Given the description of an element on the screen output the (x, y) to click on. 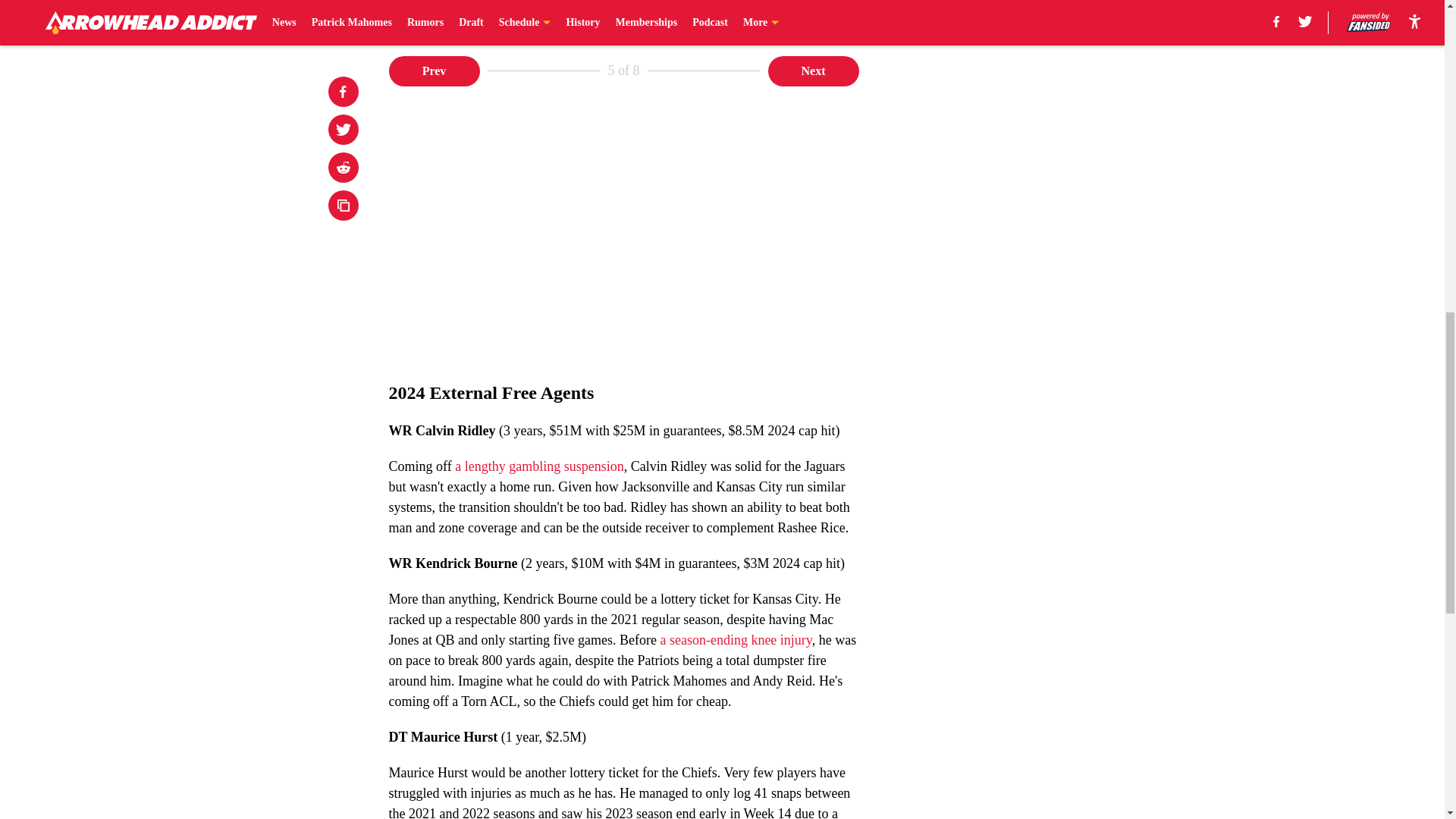
Next (813, 71)
a lengthy gambling suspension (538, 466)
a season-ending knee injury (734, 639)
Prev (433, 71)
